Given the description of an element on the screen output the (x, y) to click on. 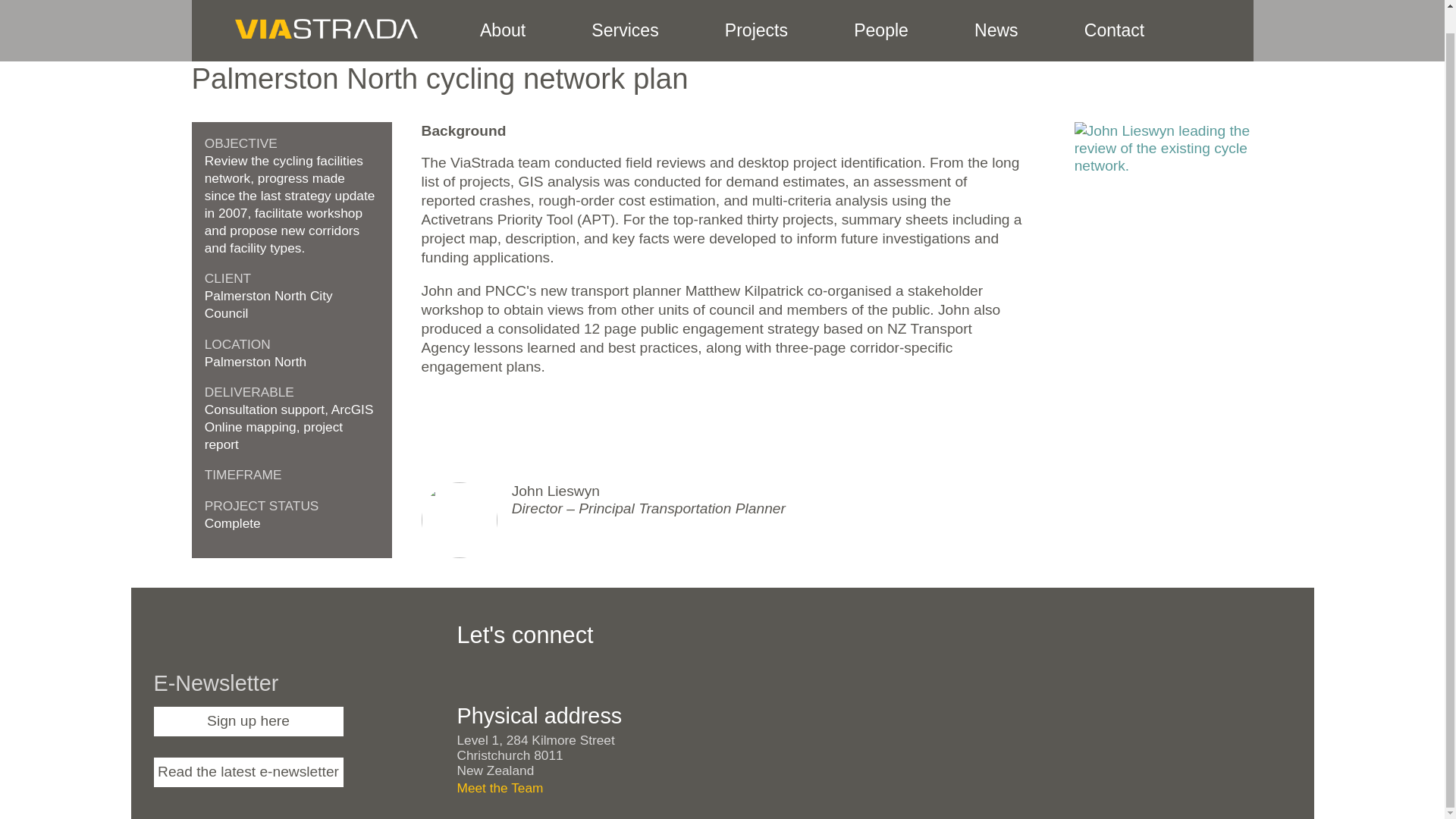
This is our team (881, 18)
Services (625, 18)
About (501, 18)
